Given the description of an element on the screen output the (x, y) to click on. 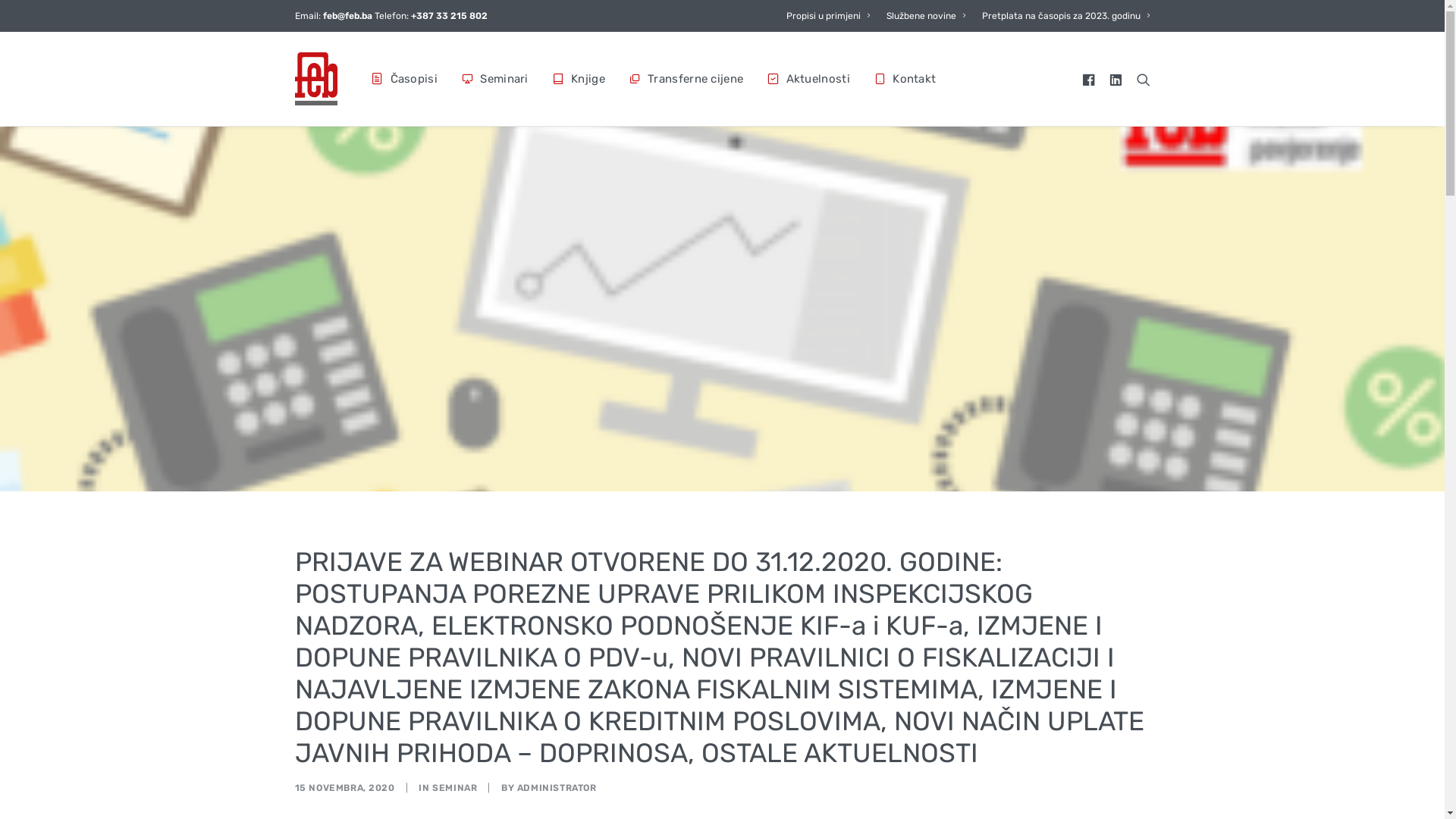
ADMINISTRATOR Element type: text (556, 787)
Knjige Element type: text (578, 78)
+387 33 215 802 Element type: text (449, 15)
SEMINAR Element type: text (454, 787)
Transferne cijene Element type: text (685, 78)
Seminari Element type: text (495, 78)
Propisi u primjeni Element type: text (831, 15)
Kontakt Element type: text (899, 78)
Aktuelnosti Element type: text (808, 78)
feb@feb.ba Element type: text (347, 15)
